Given the description of an element on the screen output the (x, y) to click on. 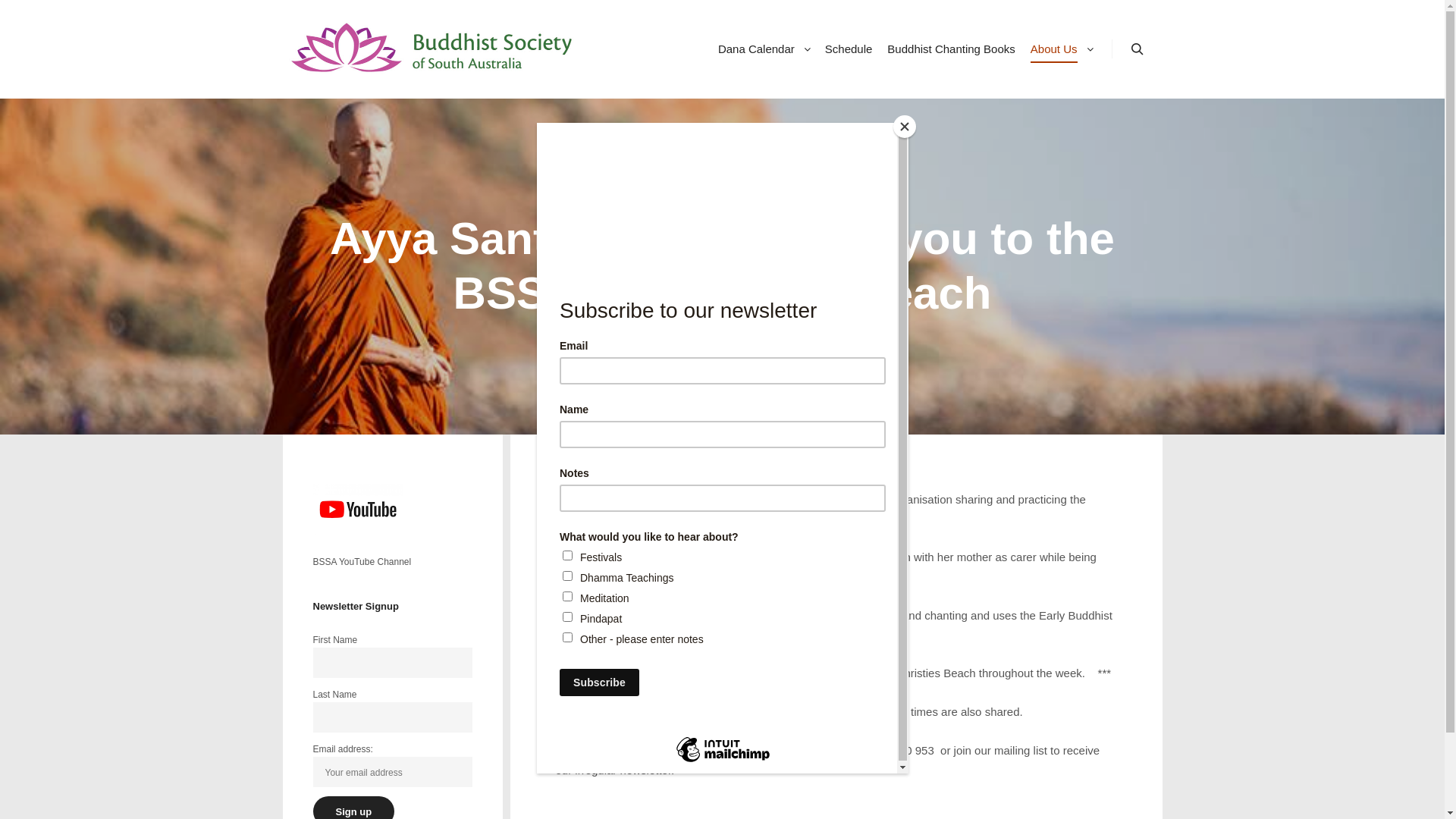
Buddhist Chanting Books Element type: text (950, 48)
Buddhist Society of South Australia Element type: hover (433, 49)
Buddhist Society of South Australia Element type: hover (282, 117)
Search Element type: text (1137, 49)
About Us Element type: text (1051, 48)
schedule Element type: text (581, 692)
BSSA YouTube Channel Element type: text (364, 554)
Schedule Element type: text (848, 48)
Dana Calendar Element type: text (753, 48)
